Given the description of an element on the screen output the (x, y) to click on. 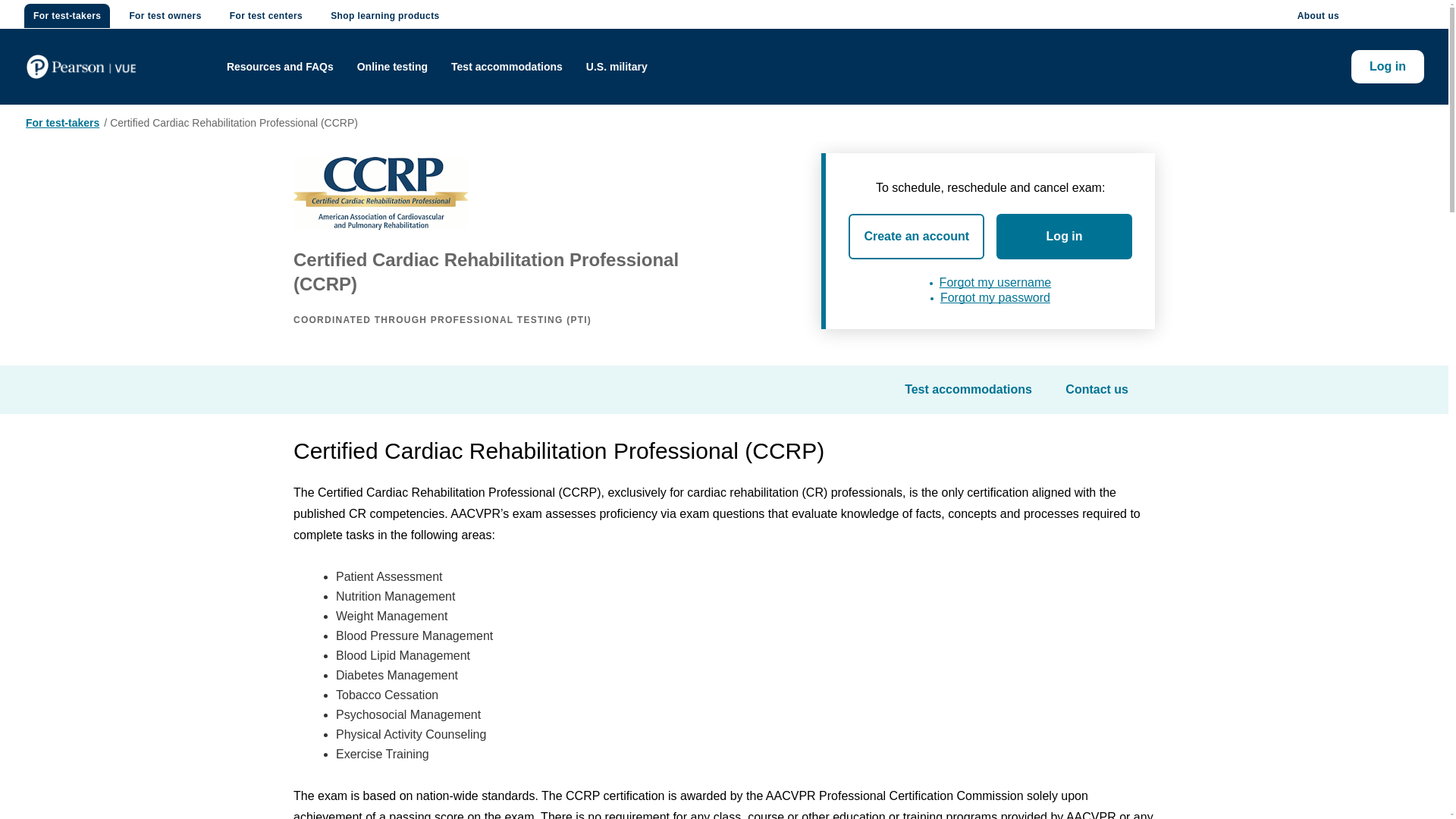
Shop learning products (384, 15)
For test-takers (67, 15)
Resources and FAQs (280, 66)
Log in (1387, 66)
For test owners (164, 15)
Create an account (916, 236)
About us (1318, 15)
For test-takers (62, 122)
U.S. military (616, 66)
Forgot my username (995, 282)
